Given the description of an element on the screen output the (x, y) to click on. 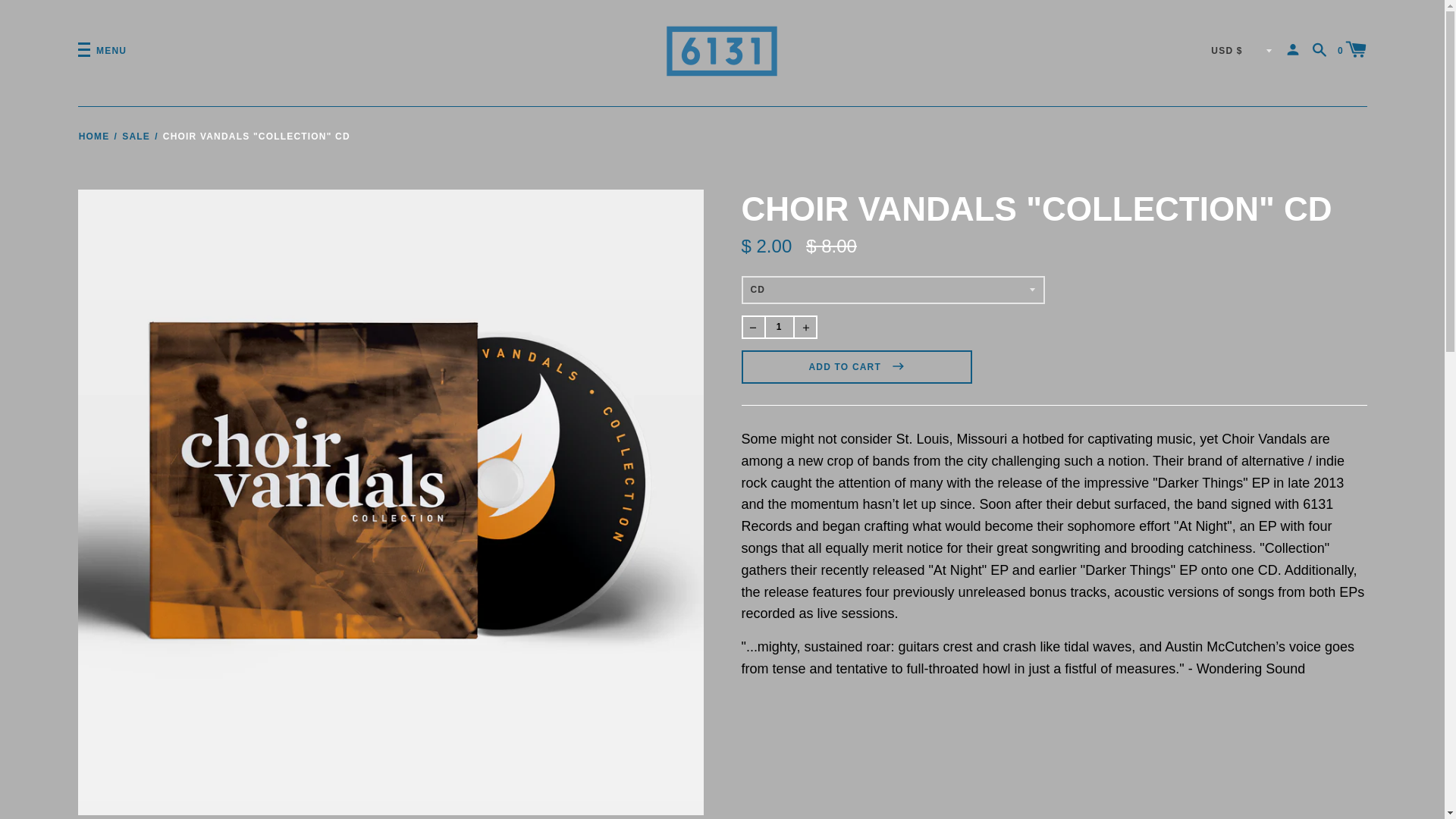
1 (778, 327)
HOME (93, 136)
0 (1352, 47)
MENU (101, 50)
SALE (135, 136)
Back to the frontpage (93, 136)
